Given the description of an element on the screen output the (x, y) to click on. 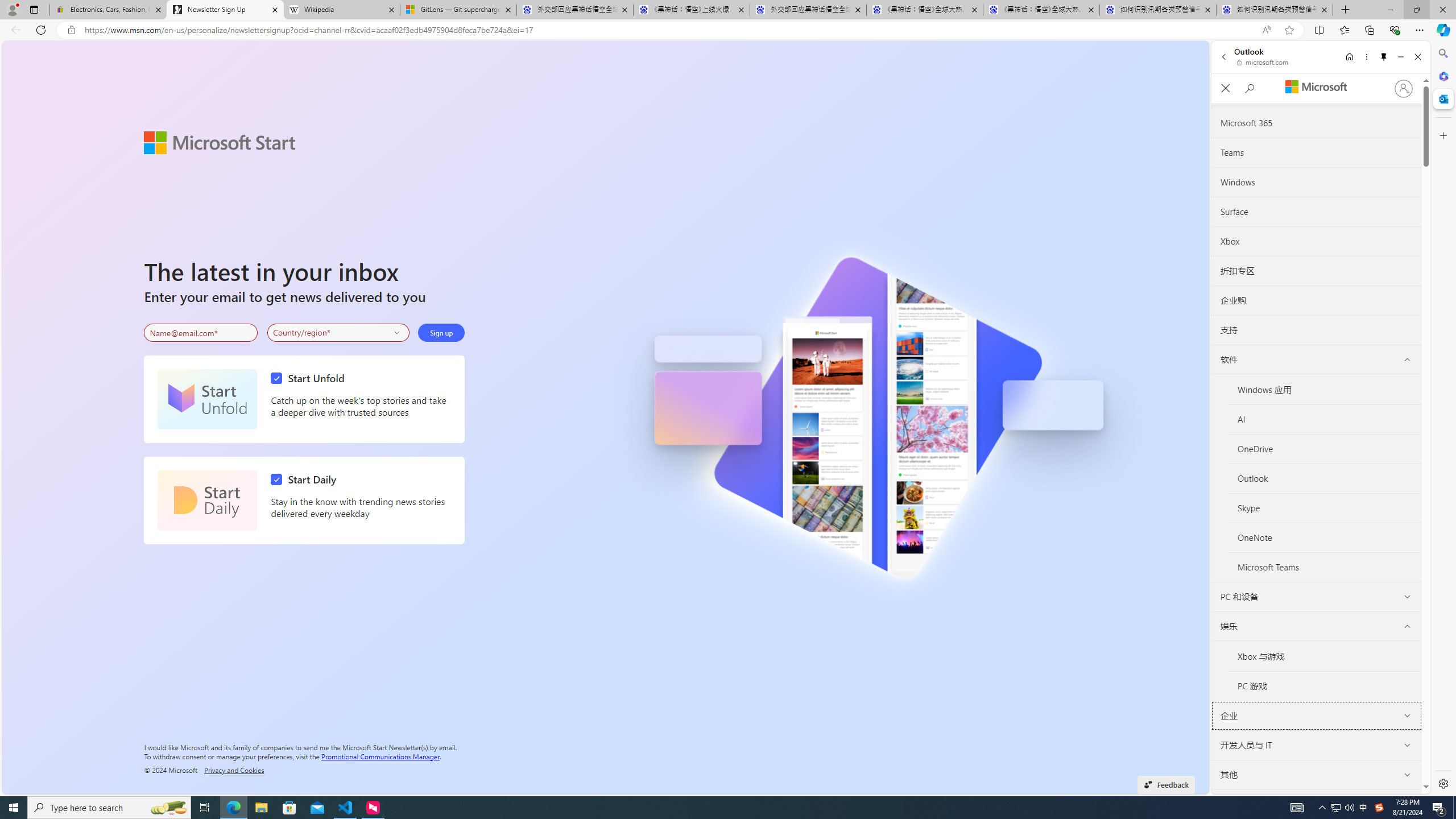
Surface (1316, 211)
